Given the description of an element on the screen output the (x, y) to click on. 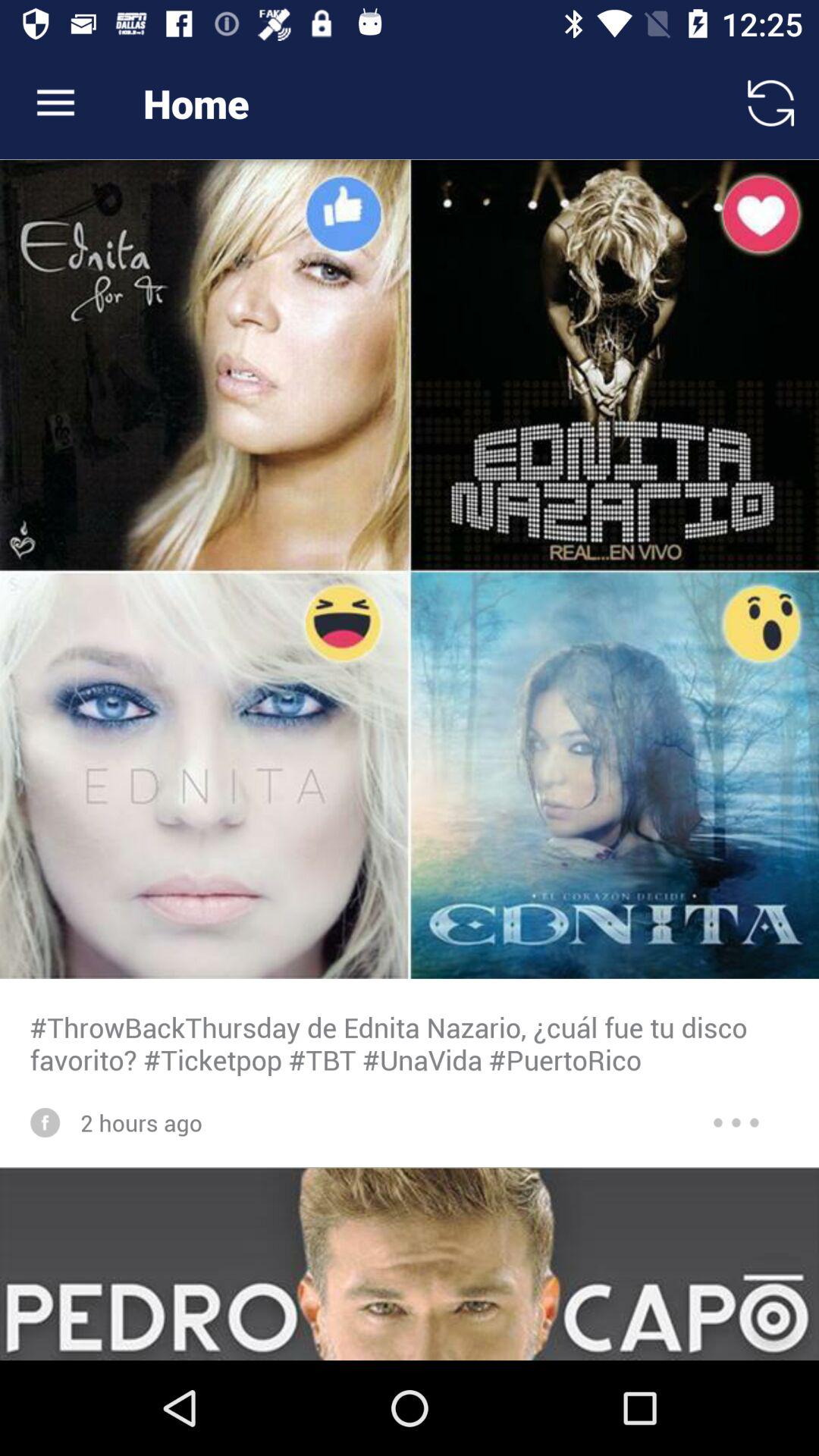
press item at the top right corner (771, 103)
